Given the description of an element on the screen output the (x, y) to click on. 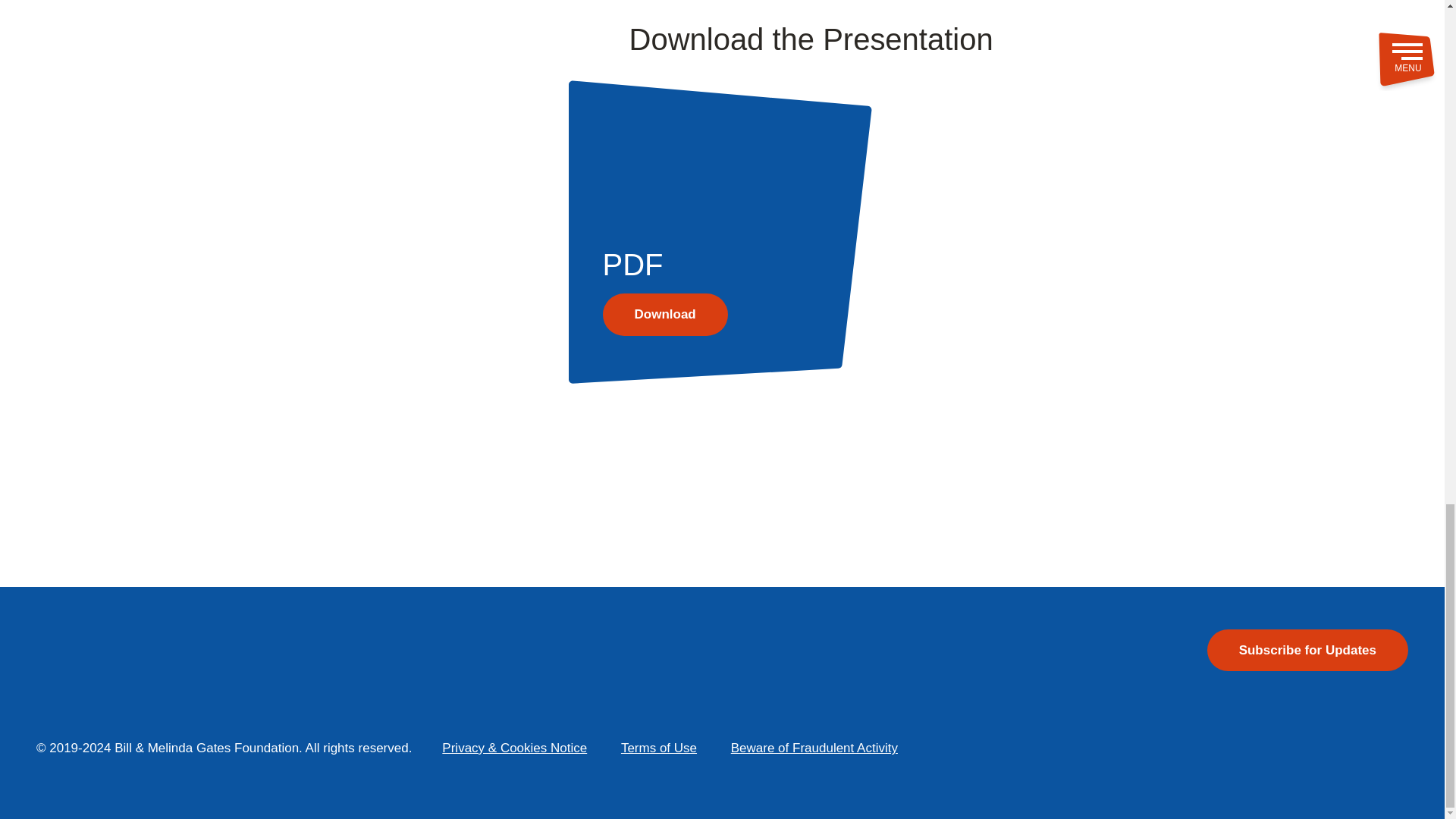
Subscribe for Updates (1307, 650)
Terms of Use (658, 748)
Download (1011, 314)
Beware of Fraudulent Activity (814, 748)
Download (665, 314)
